Given the description of an element on the screen output the (x, y) to click on. 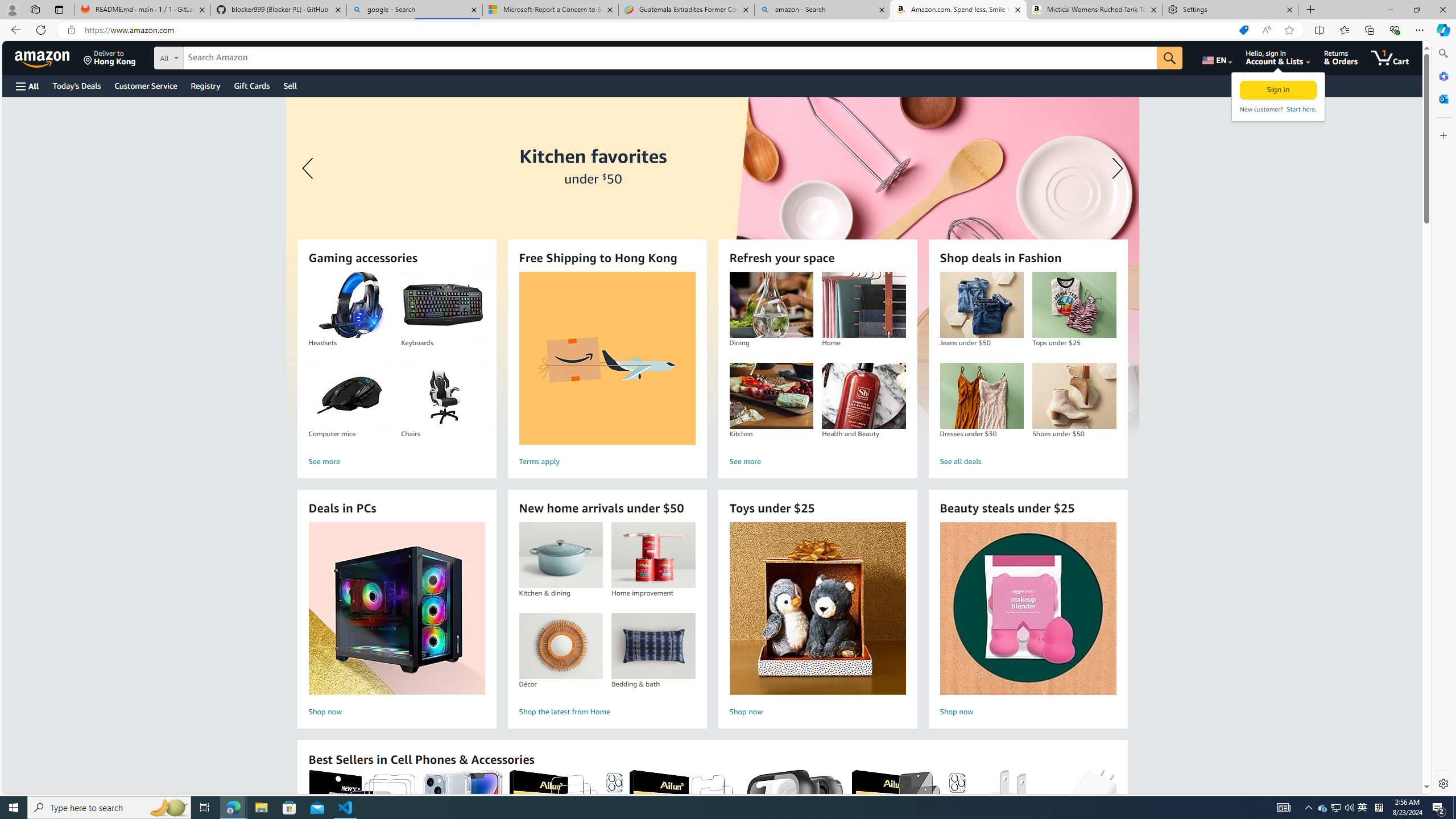
Amazon.com. Spend less. Smile more. (957, 9)
Jeans under $50 (981, 304)
Sign in (1278, 90)
Headsets (350, 304)
Favorites (1344, 29)
Deliver to Hong Kong (109, 57)
1 item in cart (1389, 57)
Close tab (1289, 9)
Shop Kitchen favorites (711, 267)
Keyboards (443, 304)
Deals in PCs Shop now (396, 620)
